Given the description of an element on the screen output the (x, y) to click on. 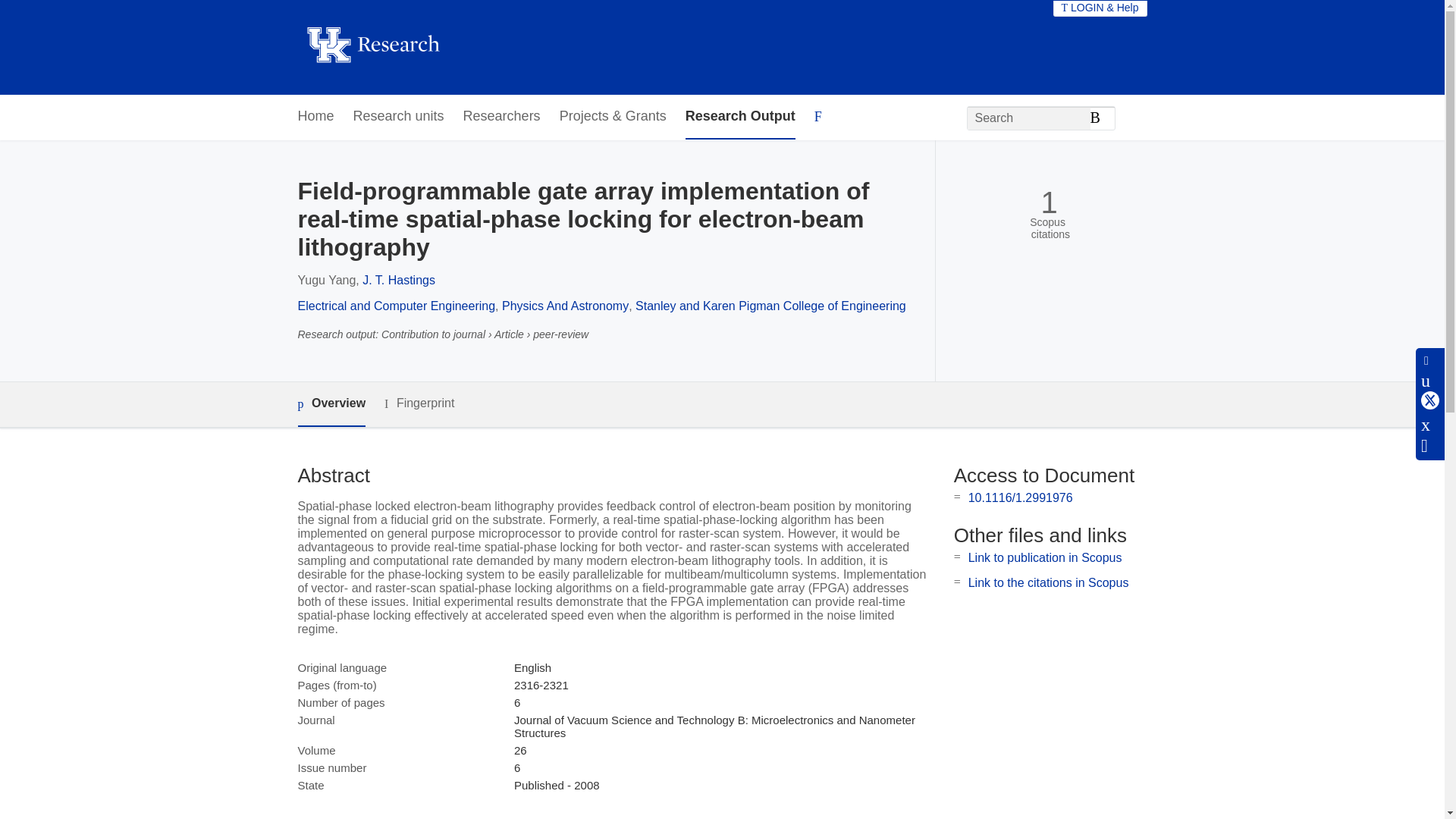
University of Kentucky Home (372, 47)
Research Output (739, 117)
Electrical and Computer Engineering (396, 305)
Physics And Astronomy (565, 305)
Link to the citations in Scopus (1048, 582)
Stanley and Karen Pigman College of Engineering (769, 305)
Link to publication in Scopus (1045, 557)
J. T. Hastings (398, 279)
Researchers (501, 117)
Fingerprint (419, 403)
Research units (398, 117)
Overview (331, 404)
